Given the description of an element on the screen output the (x, y) to click on. 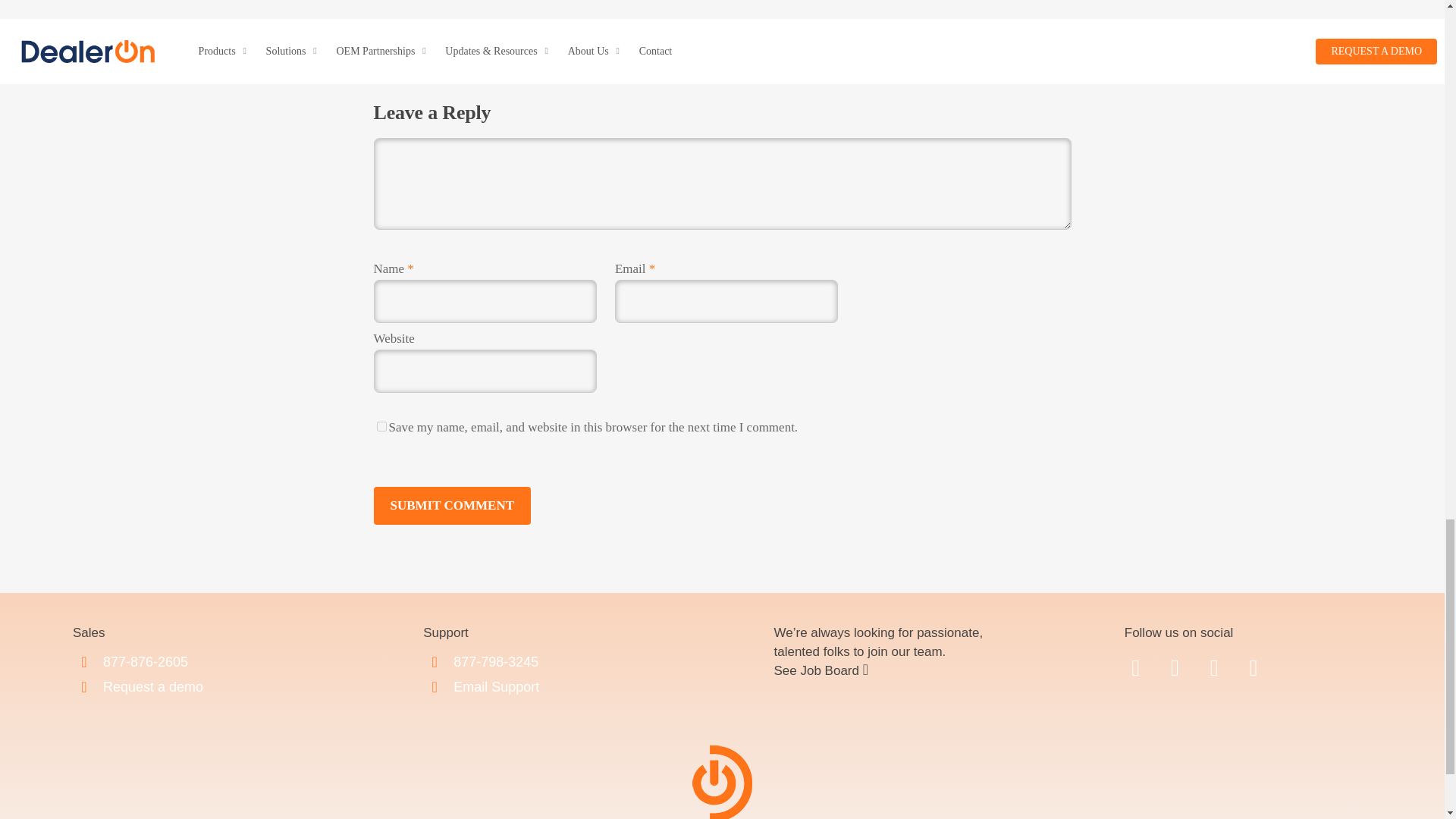
Submit Comment (451, 505)
yes (380, 426)
